Given the description of an element on the screen output the (x, y) to click on. 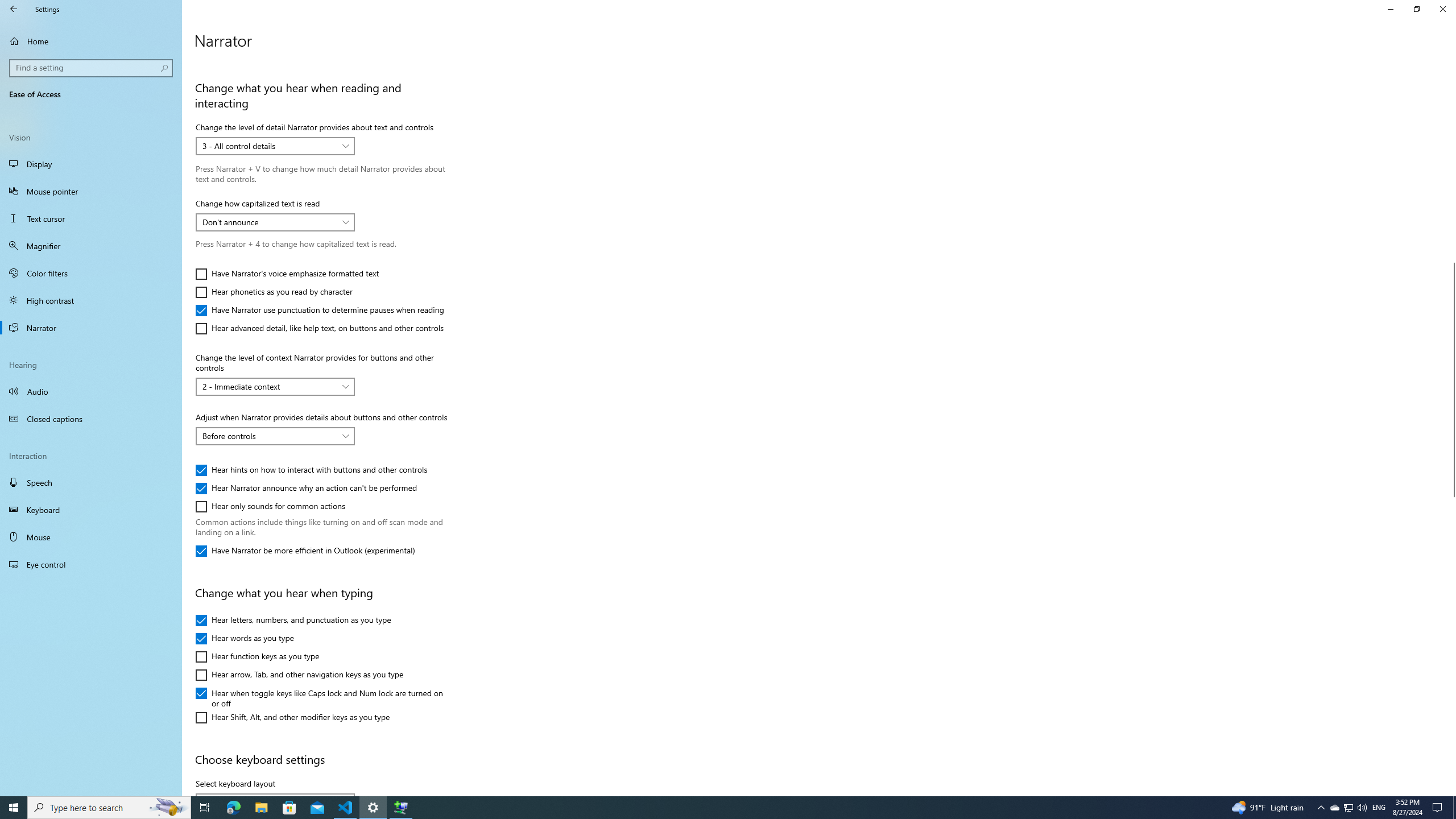
Task View (204, 807)
Select keyboard layout (275, 794)
Hear function keys as you type (257, 656)
Settings - 1 running window (373, 807)
Before controls (269, 435)
Search box, Find a setting (91, 67)
Hear only sounds for common actions (270, 506)
Q2790: 100% (1361, 807)
Don't announce (269, 222)
Search highlights icon opens search home window (167, 807)
Show desktop (1454, 807)
Narrator (91, 327)
